Given the description of an element on the screen output the (x, y) to click on. 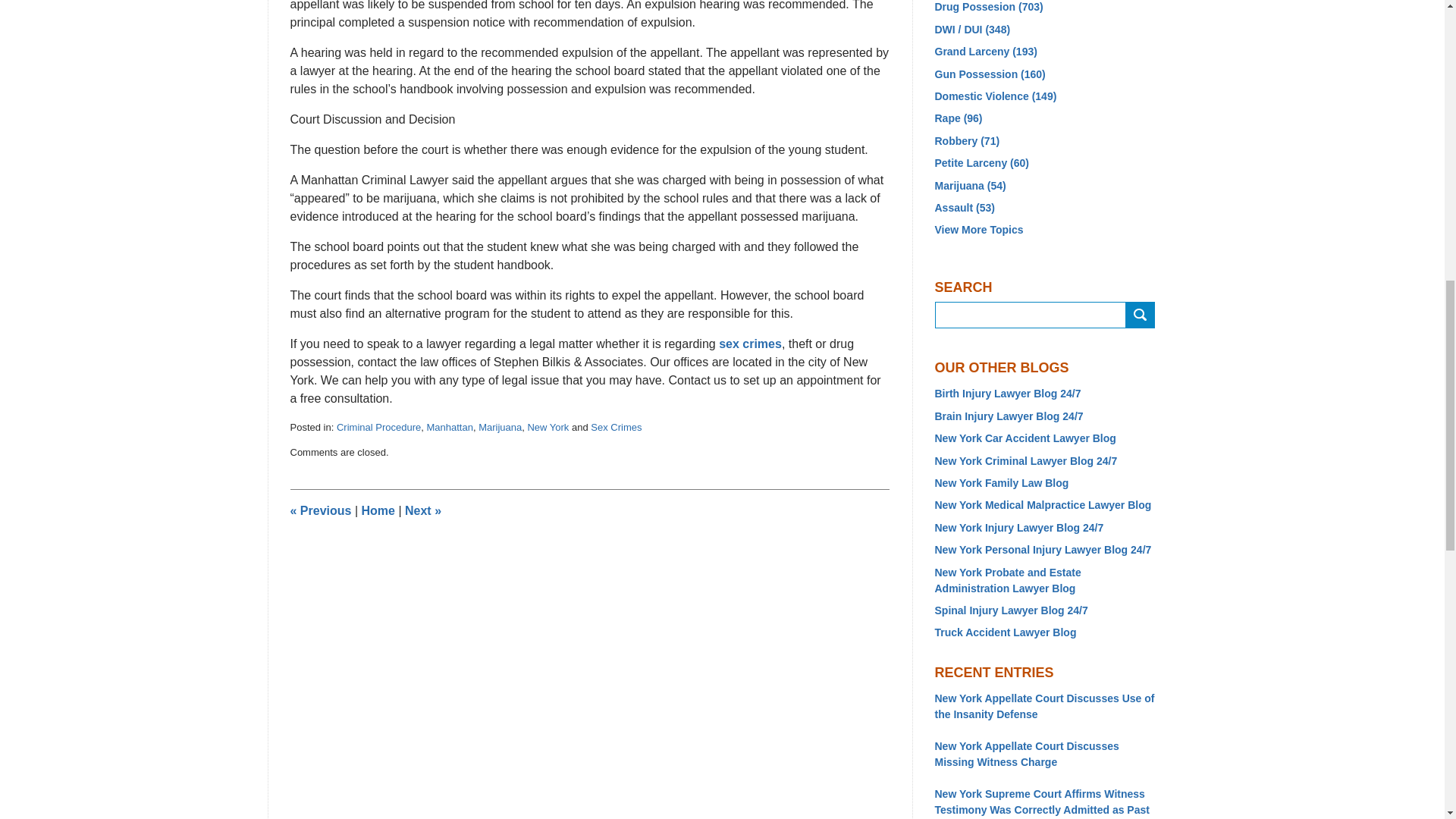
View all posts in Criminal Procedure (378, 427)
View all posts in Marijuana (500, 427)
Home (377, 510)
Manhattan (448, 427)
View all posts in New York (548, 427)
New York (548, 427)
Criminal Procedure (378, 427)
Marijuana (500, 427)
Sex Crimes (616, 427)
